Given the description of an element on the screen output the (x, y) to click on. 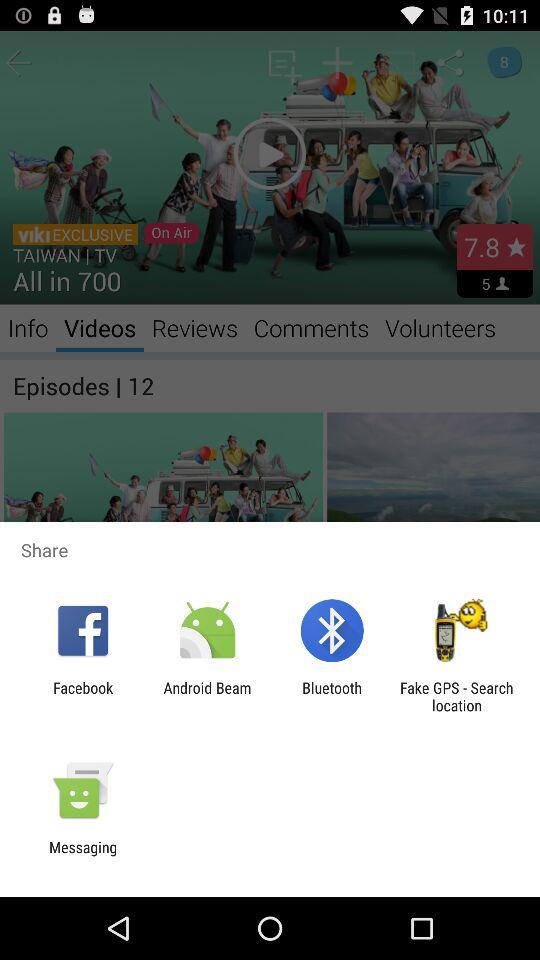
tap icon to the right of bluetooth (456, 696)
